Given the description of an element on the screen output the (x, y) to click on. 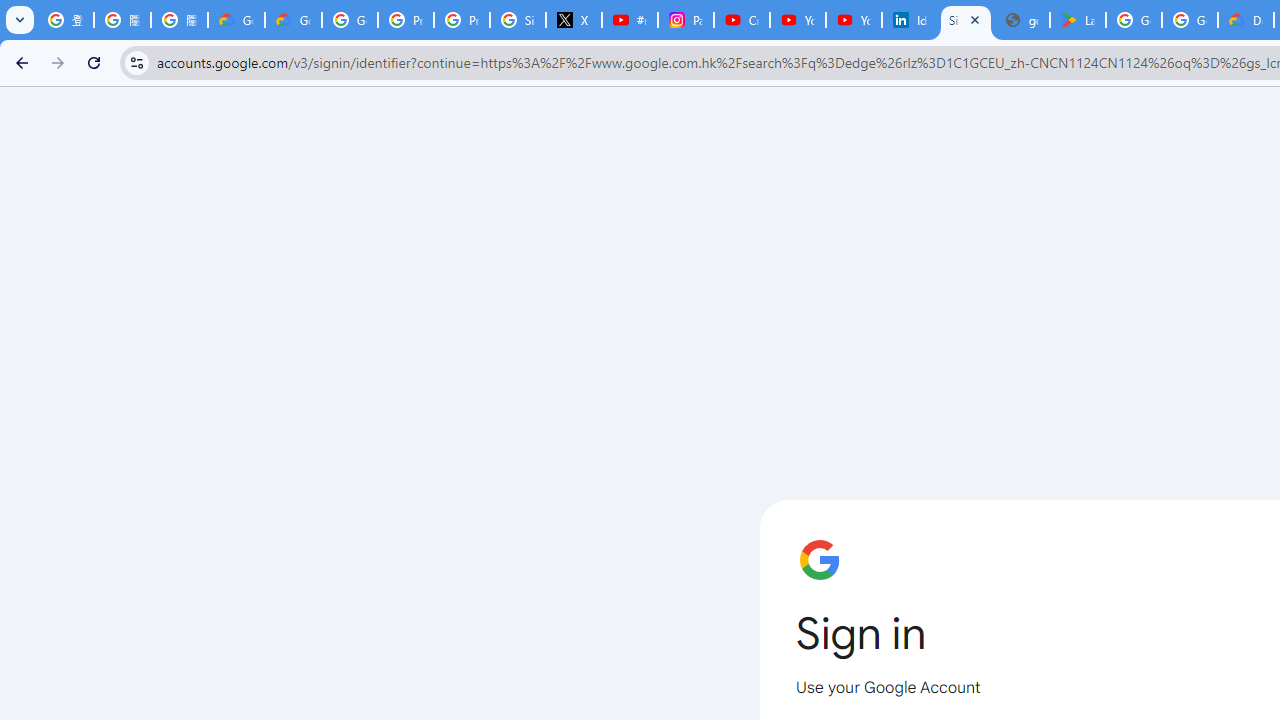
Privacy Help Center - Policies Help (461, 20)
google_privacy_policy_en.pdf (1021, 20)
Sign in - Google Accounts (518, 20)
Google Workspace - Specific Terms (1190, 20)
X (573, 20)
Google Cloud Privacy Notice (293, 20)
Privacy Help Center - Policies Help (405, 20)
Sign in - Google Accounts (966, 20)
